Given the description of an element on the screen output the (x, y) to click on. 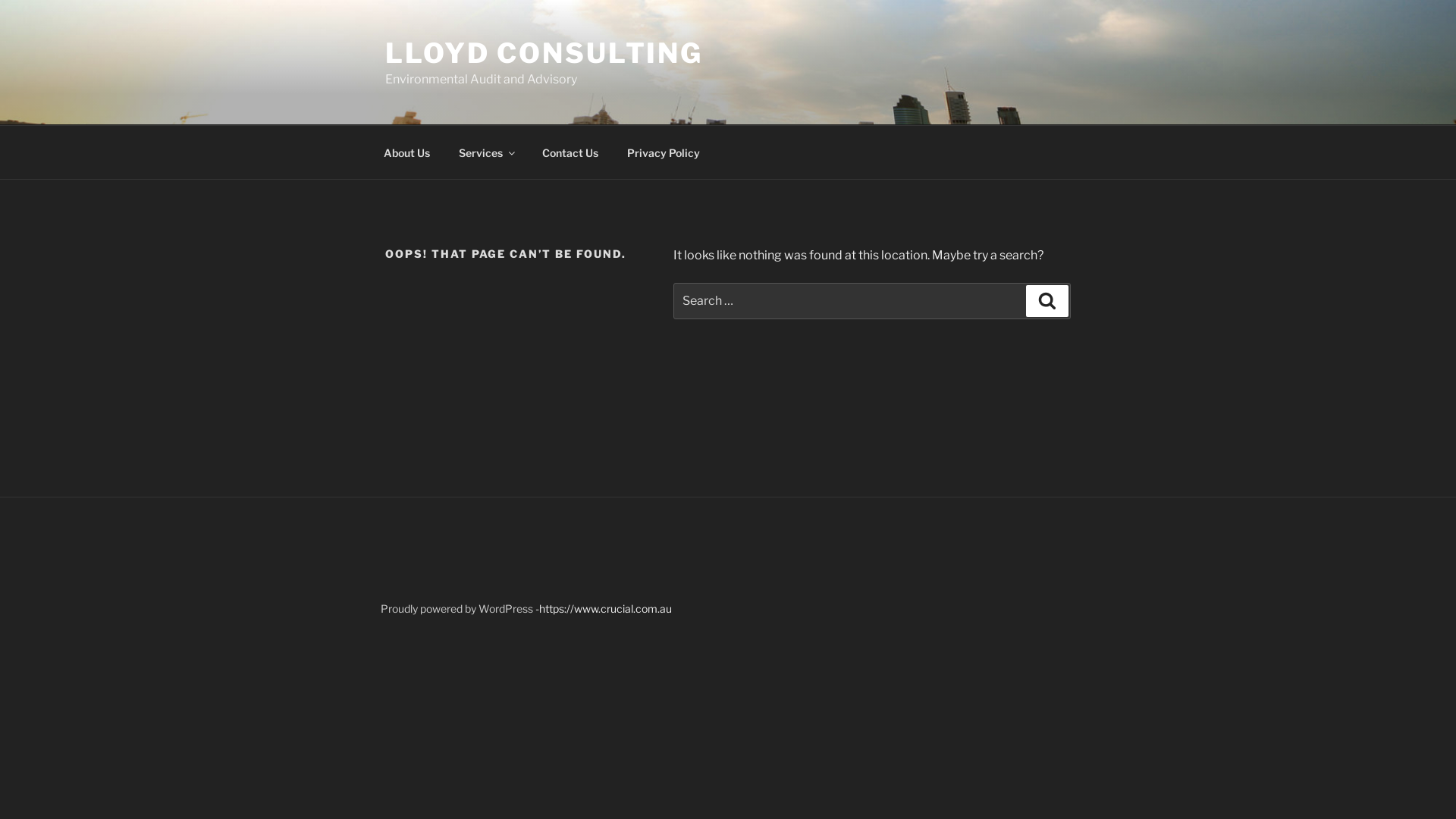
About Us Element type: text (406, 151)
Privacy Policy Element type: text (662, 151)
Search Element type: text (1047, 300)
LLOYD CONSULTING Element type: text (543, 52)
Proudly powered by WordPress Element type: text (457, 608)
Services Element type: text (485, 151)
Contact Us Element type: text (569, 151)
